Given the description of an element on the screen output the (x, y) to click on. 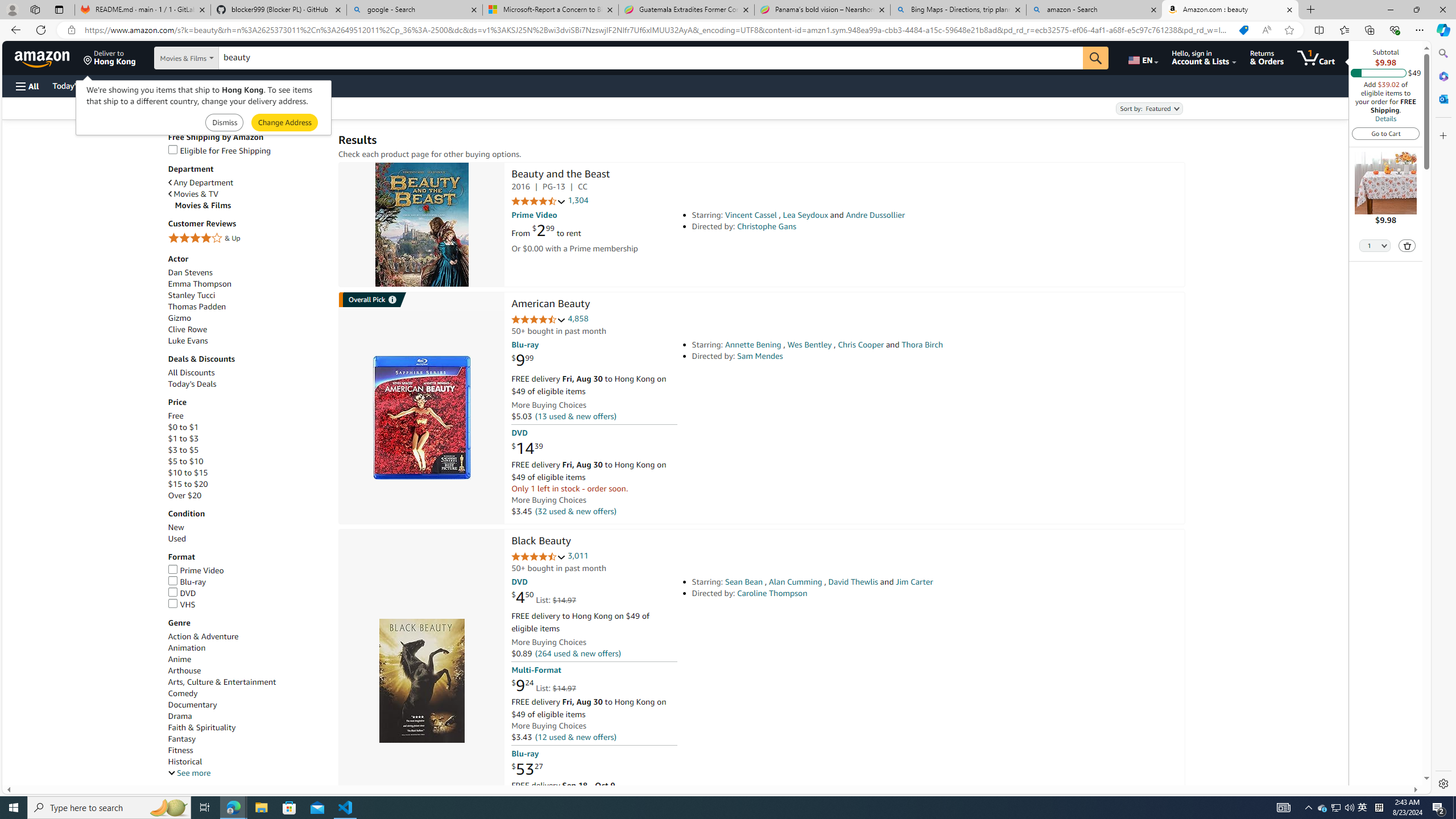
4.7 out of 5 stars (538, 557)
Choose a language for shopping. (1142, 57)
Movies & TV (192, 194)
Black Beauty (541, 541)
Action & Adventure (202, 636)
$10 to $15 (187, 472)
Anime (247, 659)
(13 used & new offers) (574, 416)
Returns & Orders (1266, 57)
Over $20 (247, 495)
Today's Deals (191, 383)
Gizmo (179, 317)
4,858 (577, 318)
